Given the description of an element on the screen output the (x, y) to click on. 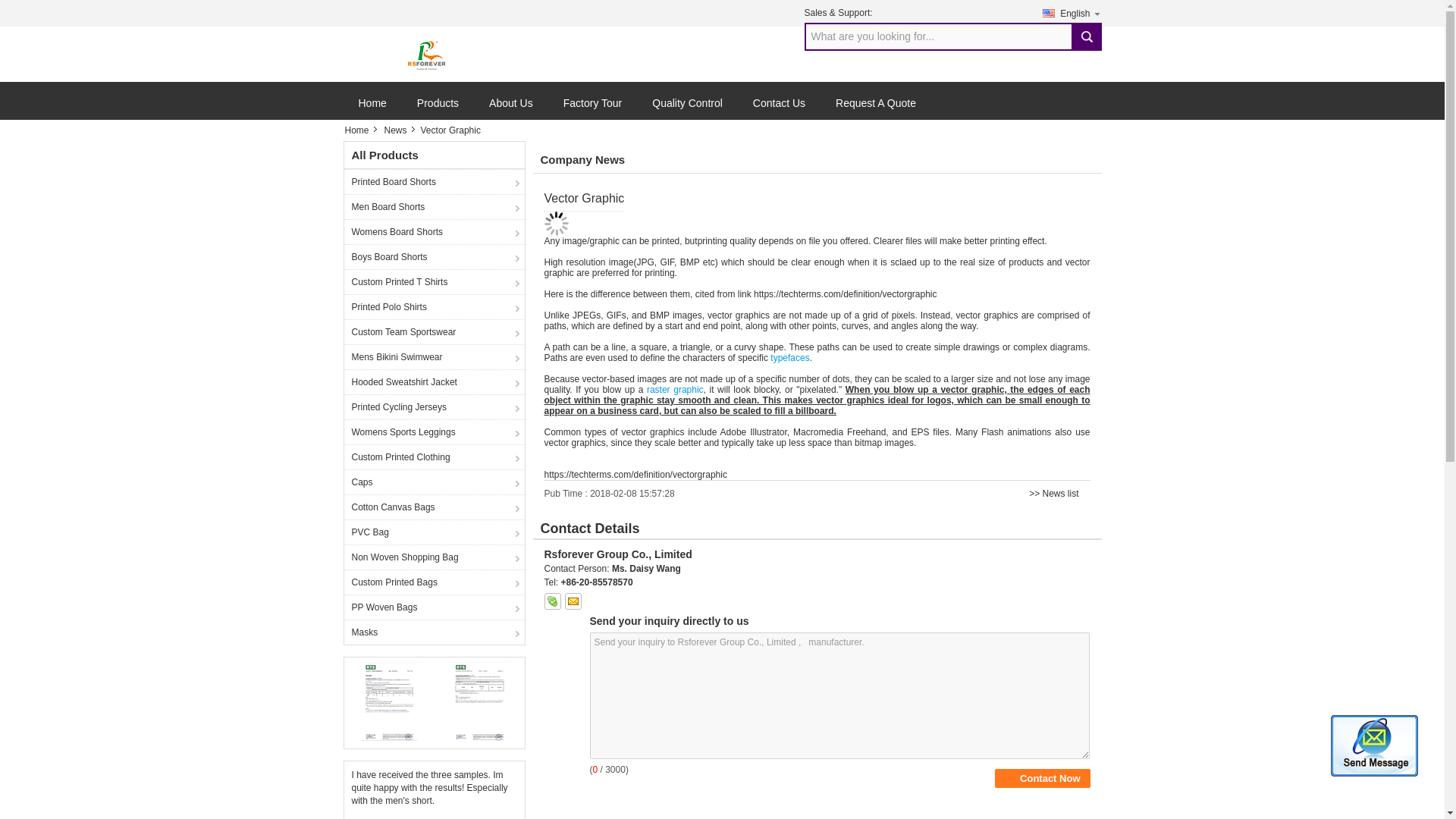
Custom Printed T Shirts (433, 281)
Non Woven Shopping Bag (433, 556)
China Printed Board Shorts  on sales (433, 181)
China Custom Team Sportswear  on sales (433, 331)
About Us (511, 109)
China Mens Bikini Swimwear  on sales (433, 356)
Home (360, 130)
Contact Now (1041, 778)
PVC Bag (433, 531)
Custom Printed Clothing (433, 456)
